Given the description of an element on the screen output the (x, y) to click on. 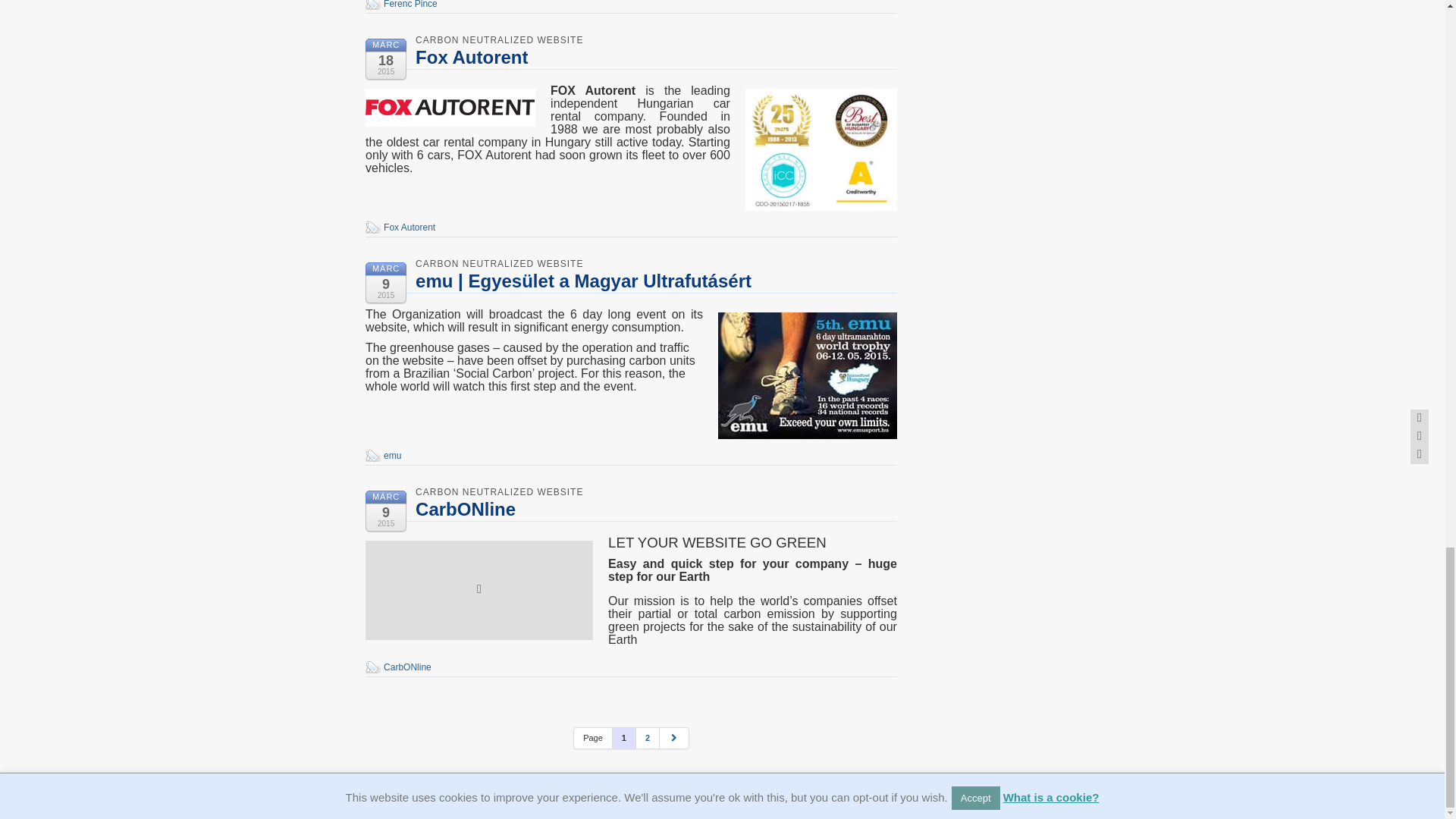
BOCS BEiCCNEUTRAL Element type: text (964, 775)
LoveInfo Element type: text (573, 328)
bySilluDesign STUDIO Element type: text (961, 702)
CARBON NEUTRALIZED WEBSITE Element type: text (499, 243)
repara.hu Element type: text (937, 484)
Makes it Cool Element type: text (944, 793)
GREENMATRIX Element type: text (949, 647)
7 grams of CO2 Element type: text (411, 134)
EWS Global Element type: text (942, 311)
Facebook Element type: text (997, 9)
BOCS Foundation Element type: text (953, 757)
Villa Apartman Element type: text (946, 374)
Plasma Pulstar Pulse Element type: text (959, 338)
LoveInfo Lite project Element type: text (504, 261)
KOJAK lollipop Element type: text (947, 693)
Herbow International Zrt. Element type: text (965, 283)
Vimeo Element type: text (1070, 9)
Patchwork Element type: text (938, 720)
humanitarien Element type: text (494, 416)
THERMOL Element type: text (939, 748)
health- Element type: text (446, 416)
Webpage neutralization Element type: text (518, 134)
QFPC BOCS.CF Element type: text (950, 229)
FAREL IMPEX Kft. Element type: text (953, 247)
problem Element type: text (545, 416)
Carbon-Offset BOCS.CF Element type: text (965, 657)
CARBON NEUTRALIZED WEBSITE Element type: text (499, 634)
YouTube Element type: text (1052, 9)
Women's Day Element type: text (945, 411)
Carbon-Offset BOCS.EU Element type: text (965, 365)
Fox Autorent Element type: text (942, 493)
BOCS.EU Element type: text (938, 320)
ecological Element type: text (403, 416)
Comments: Element type: text (889, 511)
PRODIGY-5 Element type: text (942, 602)
Sweet Food Kft. Element type: text (949, 438)
Roobycon Consulting | Wibsite Carbon Offset Element type: hover (486, 728)
ClimeNews Element type: text (940, 766)
Information Element type: text (615, 134)
RealGen Kft. Element type: text (943, 329)
Carbon Neutral Webpage in the nutritional supplement market Element type: hover (486, 548)
CARBON NEUTRALIZED WEBSITE Element type: text (499, 453)
karbonsemleges.cf Element type: text (954, 593)
LoveInfo Lite project Element type: text (956, 420)
WINDTANOO Element type: text (945, 784)
Restaurant Tezaur si Cofetaria Trandafirul Element type: text (975, 534)
Roobycon Consulting Element type: text (509, 651)
Contact Element type: text (812, 134)
CarbONline Element type: text (941, 265)
Carbon Neutral Webpage in the nutritional supplement market Element type: text (651, 481)
Fortuna-Dekor Element type: text (946, 256)
Twitter Element type: text (1033, 9)
LoveInfo Lite project | Website Carbon Offset Element type: hover (783, 346)
Roobycon Consulting Element type: text (959, 802)
LoveInfo Lite provides solutions Element type: text (492, 294)
idea fontana Element type: text (942, 429)
10 Earths CO2 - Earths fotos: NASA - Website CarbonOffset Element type: hover (904, 58)
Hotel Silver**** resort Element type: text (959, 575)
Euro Medica Element type: text (942, 502)
Iskolaprogram Element type: text (945, 675)
QFPC BOCS.EU Element type: text (950, 511)
Linkedin Element type: text (1015, 9)
